Given the description of an element on the screen output the (x, y) to click on. 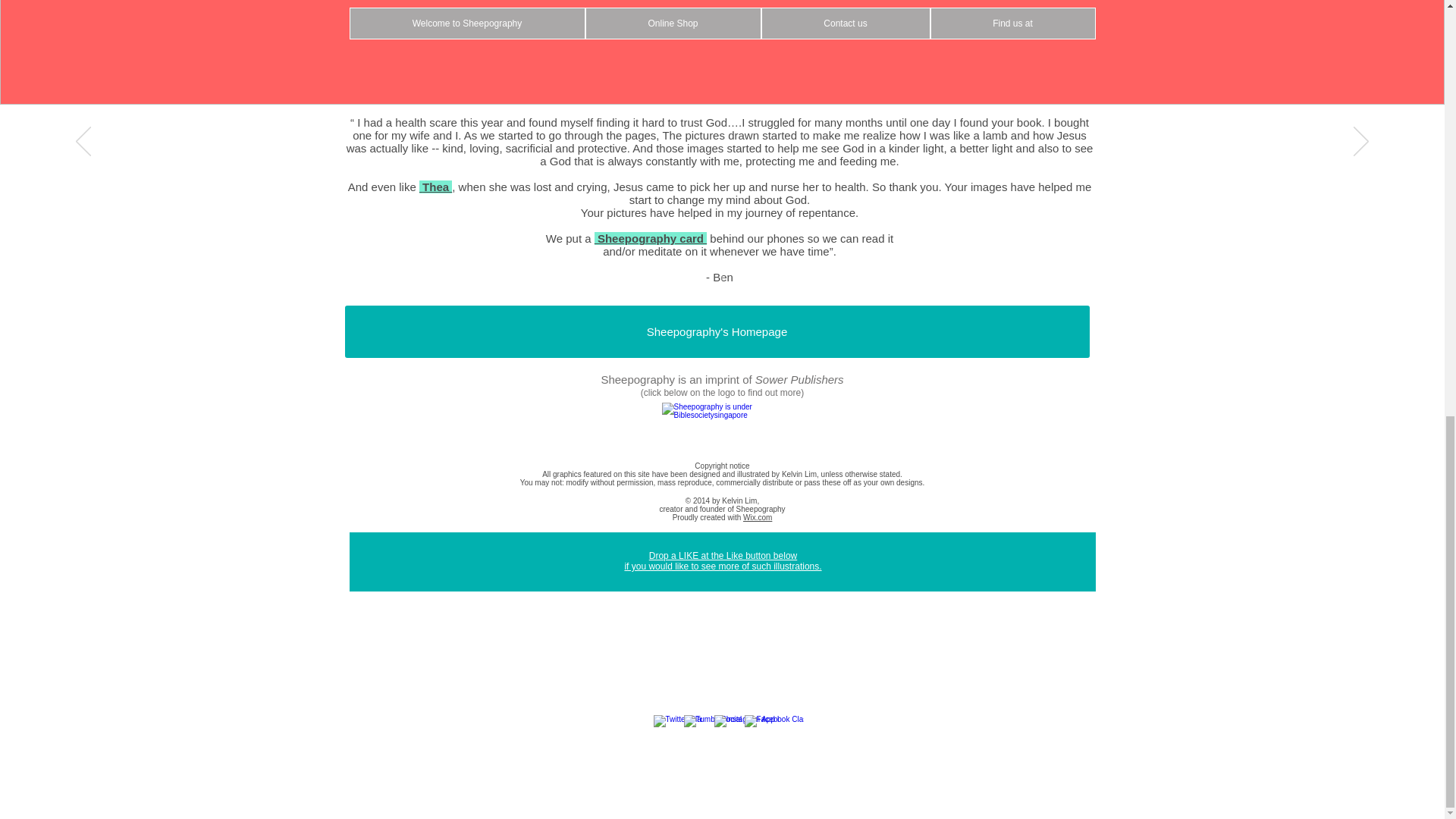
Facebook Like (721, 633)
 Sheepography card  (650, 237)
Wix.com (756, 517)
Thea (436, 186)
Sheepography's Homepage (716, 331)
